Given the description of an element on the screen output the (x, y) to click on. 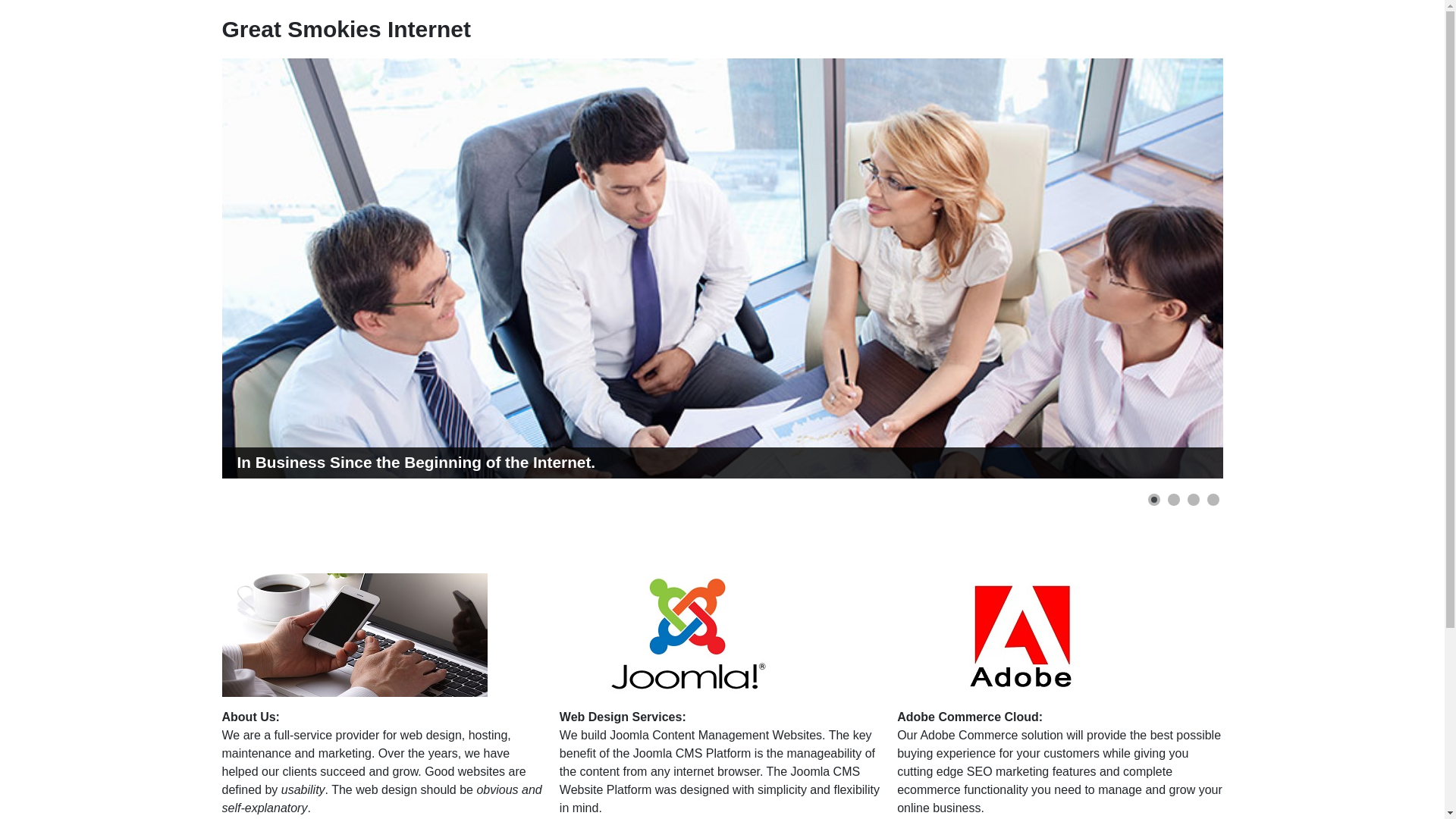
About (353, 634)
Joomla (692, 634)
Adobe (1028, 634)
